Given the description of an element on the screen output the (x, y) to click on. 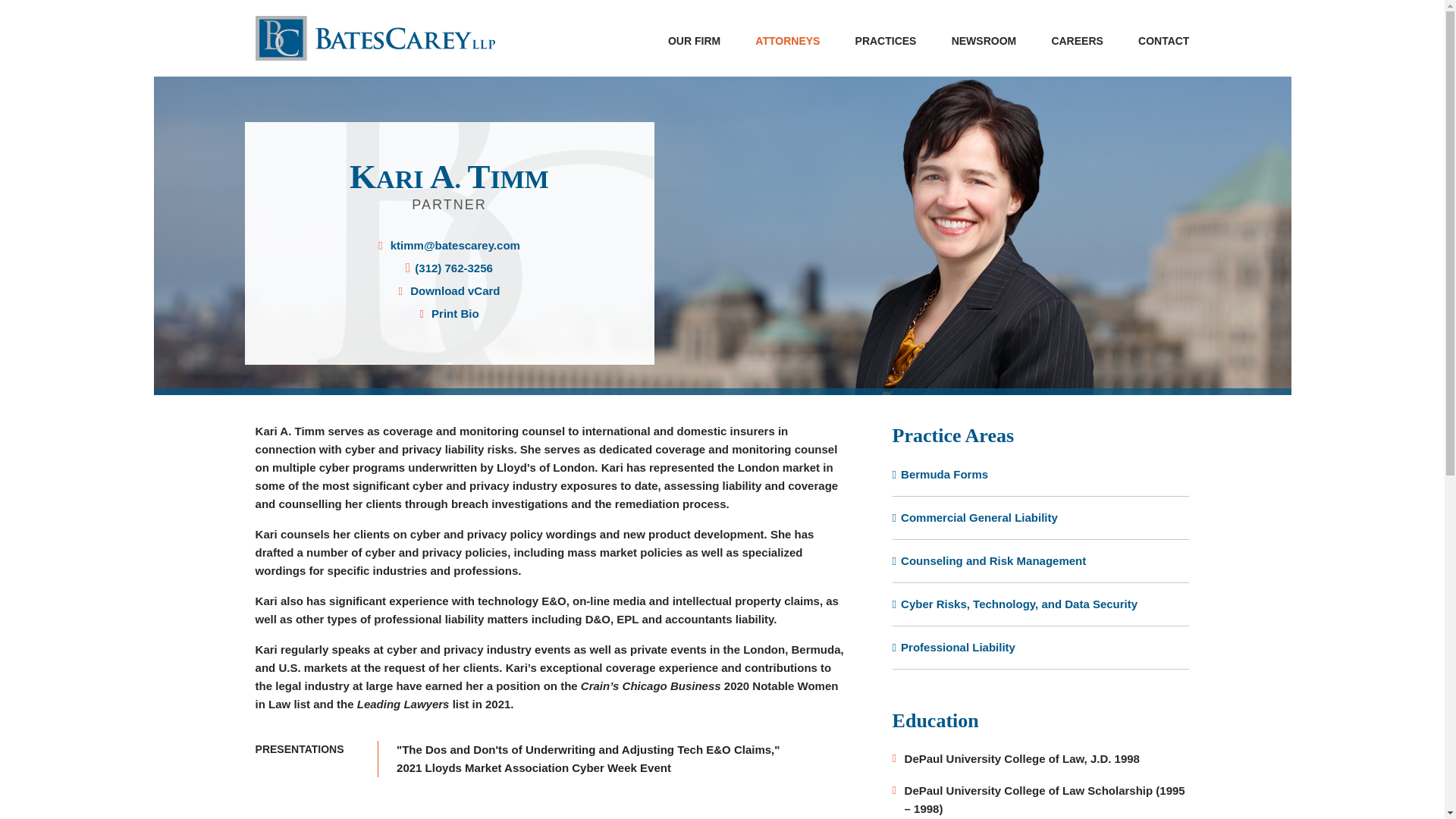
OUR FIRM (694, 40)
